Given the description of an element on the screen output the (x, y) to click on. 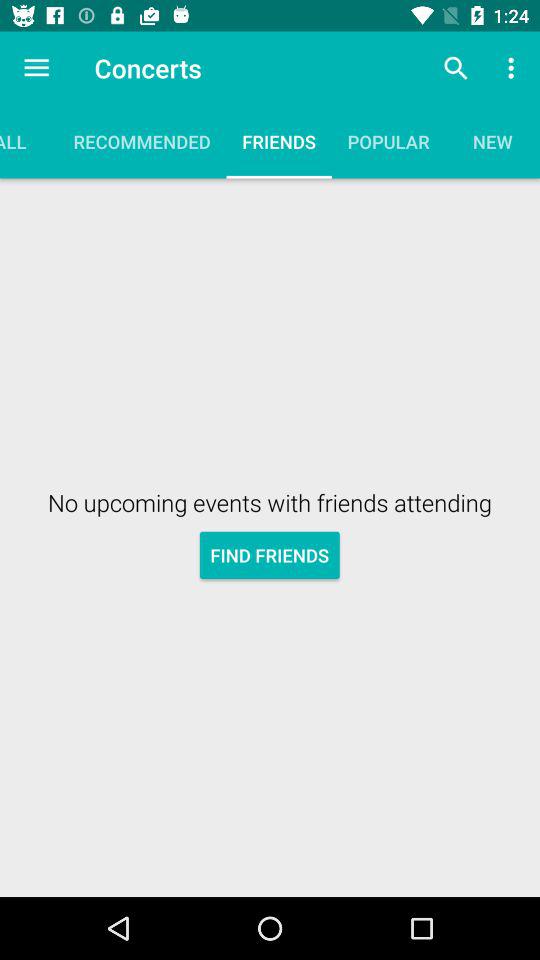
turn off icon next to concerts item (455, 67)
